Given the description of an element on the screen output the (x, y) to click on. 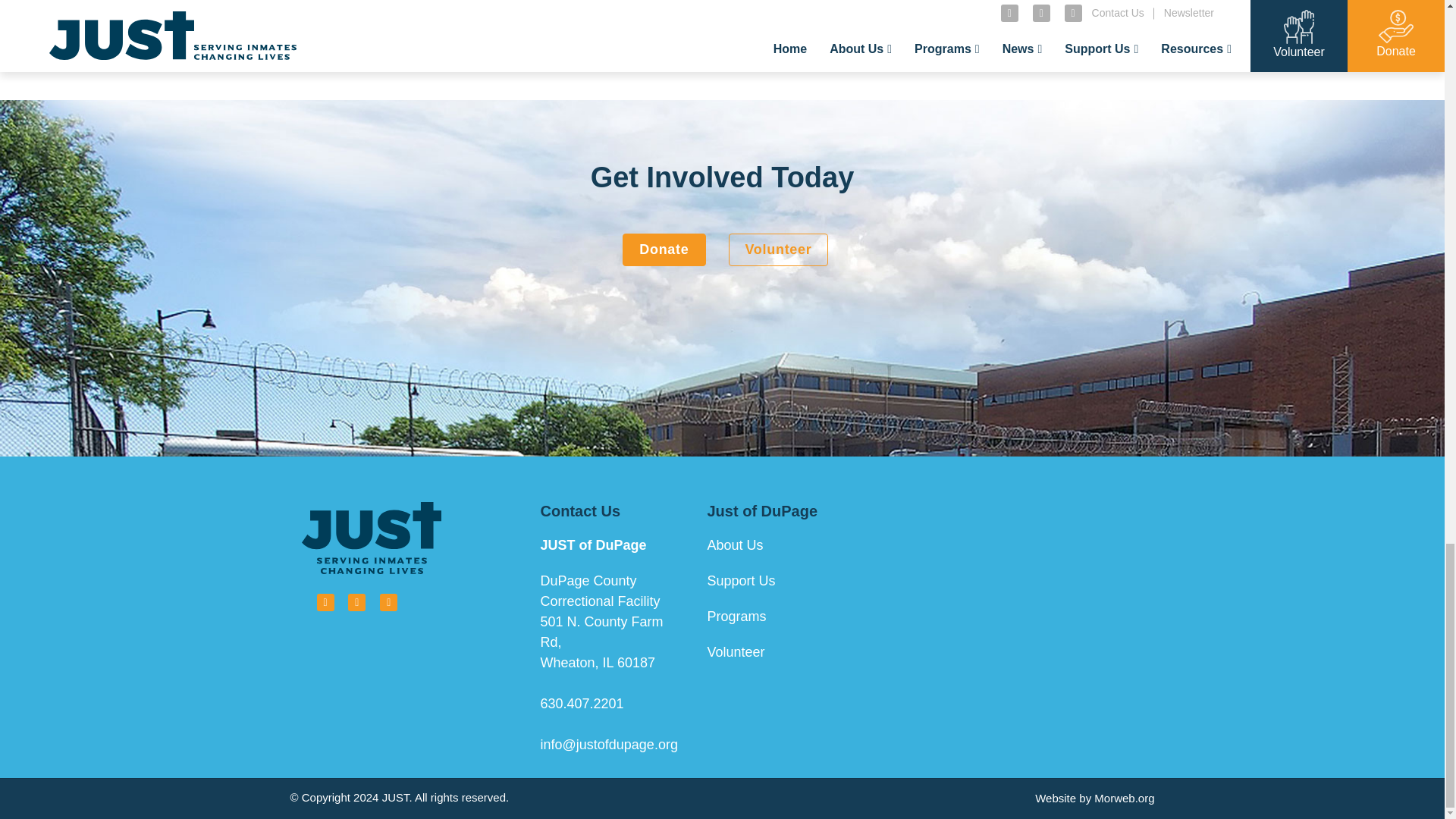
Volunteer (778, 249)
Donate (663, 249)
